Given the description of an element on the screen output the (x, y) to click on. 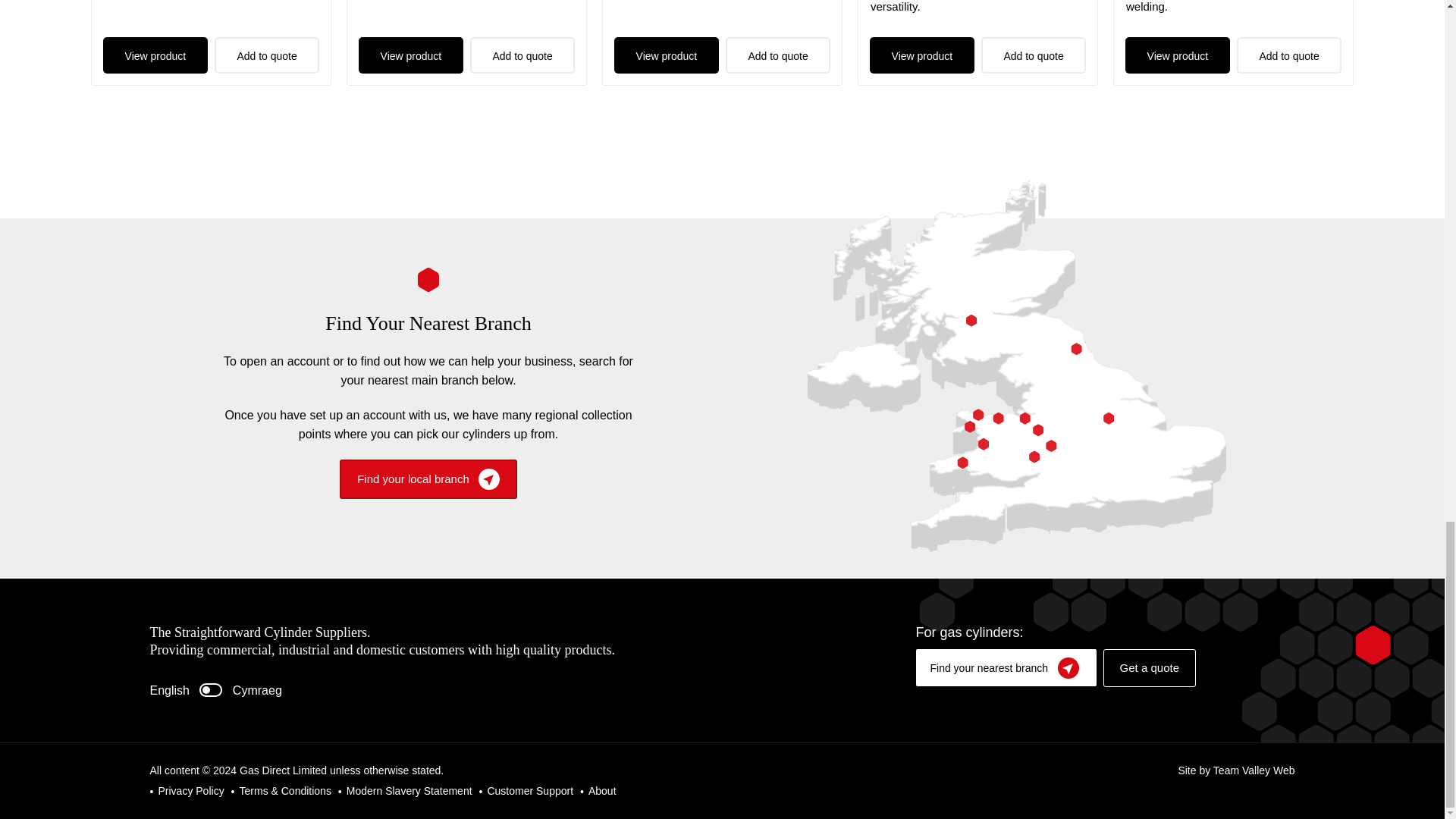
Add to quote (777, 54)
Add to quote (266, 54)
View product (665, 54)
View product (411, 54)
Add to quote (521, 54)
View product (154, 54)
